Given the description of an element on the screen output the (x, y) to click on. 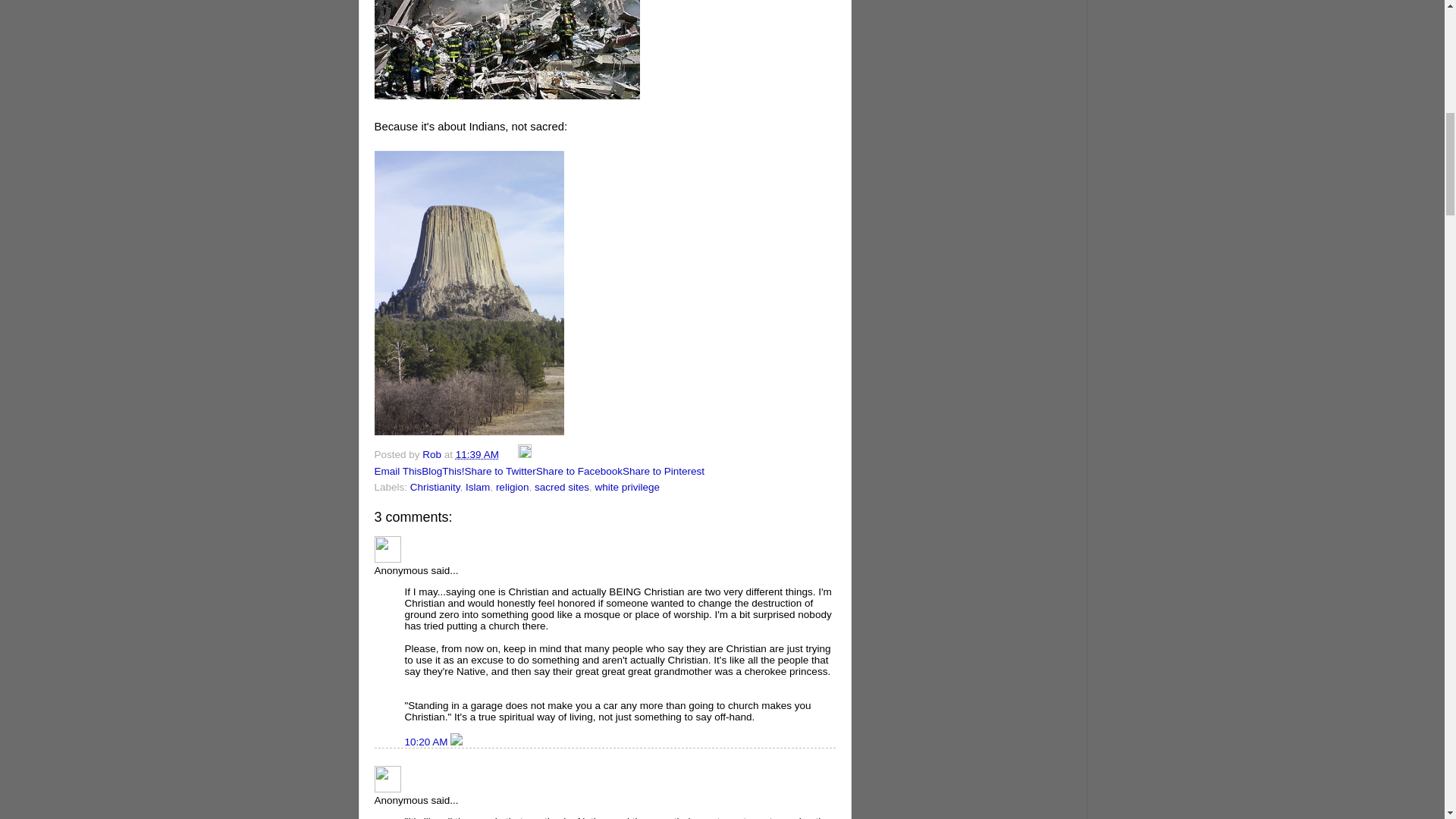
Share to Facebook (579, 471)
Christianity (435, 487)
Anonymous (387, 778)
Email This (398, 471)
Delete Comment (456, 741)
comment permalink (427, 741)
white privilege (626, 487)
religion (512, 487)
Email This (398, 471)
10:20 AM (427, 741)
Share to Twitter (499, 471)
Edit Post (524, 454)
Share to Twitter (499, 471)
11:39 AM (477, 454)
Share to Pinterest (663, 471)
